Given the description of an element on the screen output the (x, y) to click on. 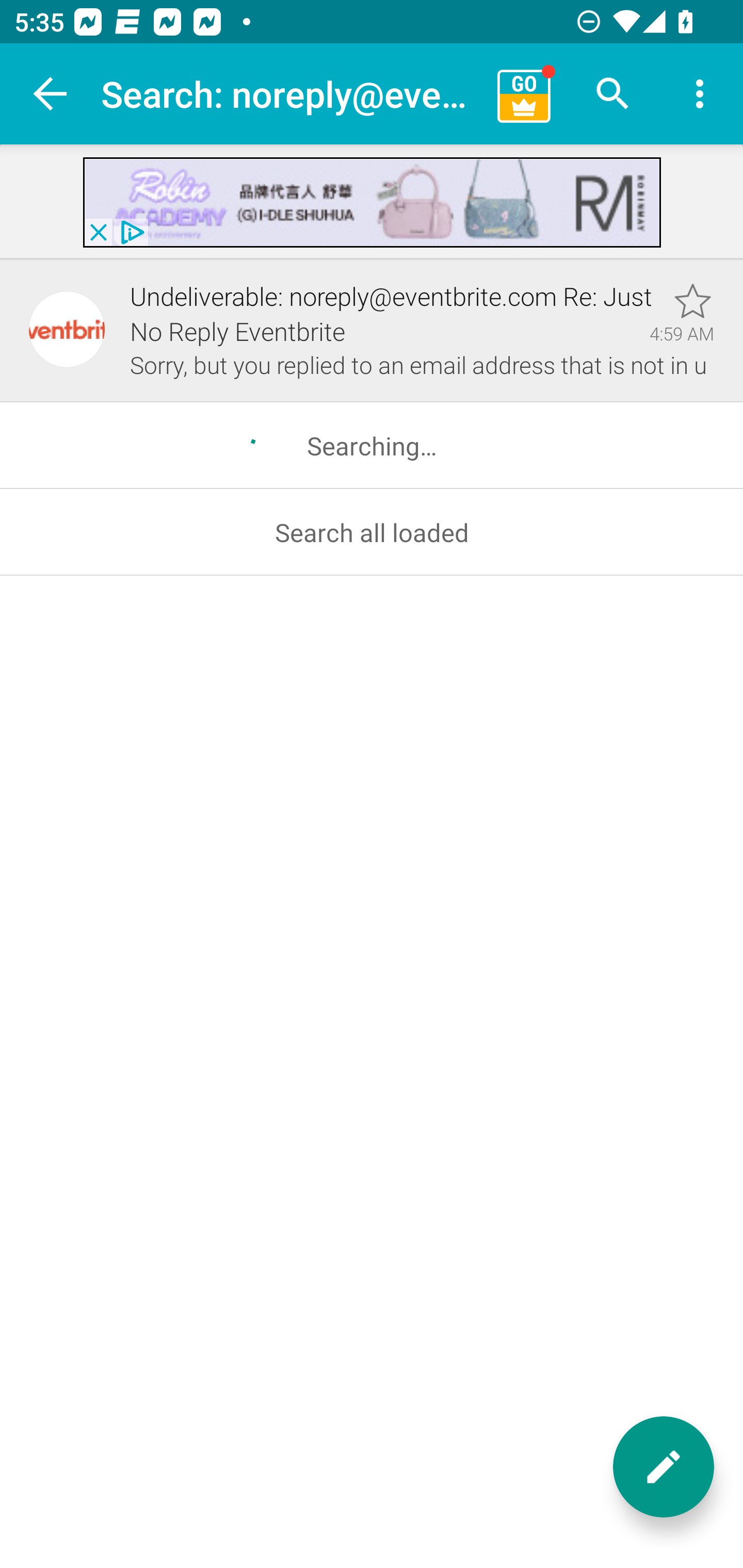
Navigate up (50, 93)
Search (612, 93)
More options (699, 93)
Searching… (371, 445)
Search all loaded (371, 532)
New message (663, 1466)
